Given the description of an element on the screen output the (x, y) to click on. 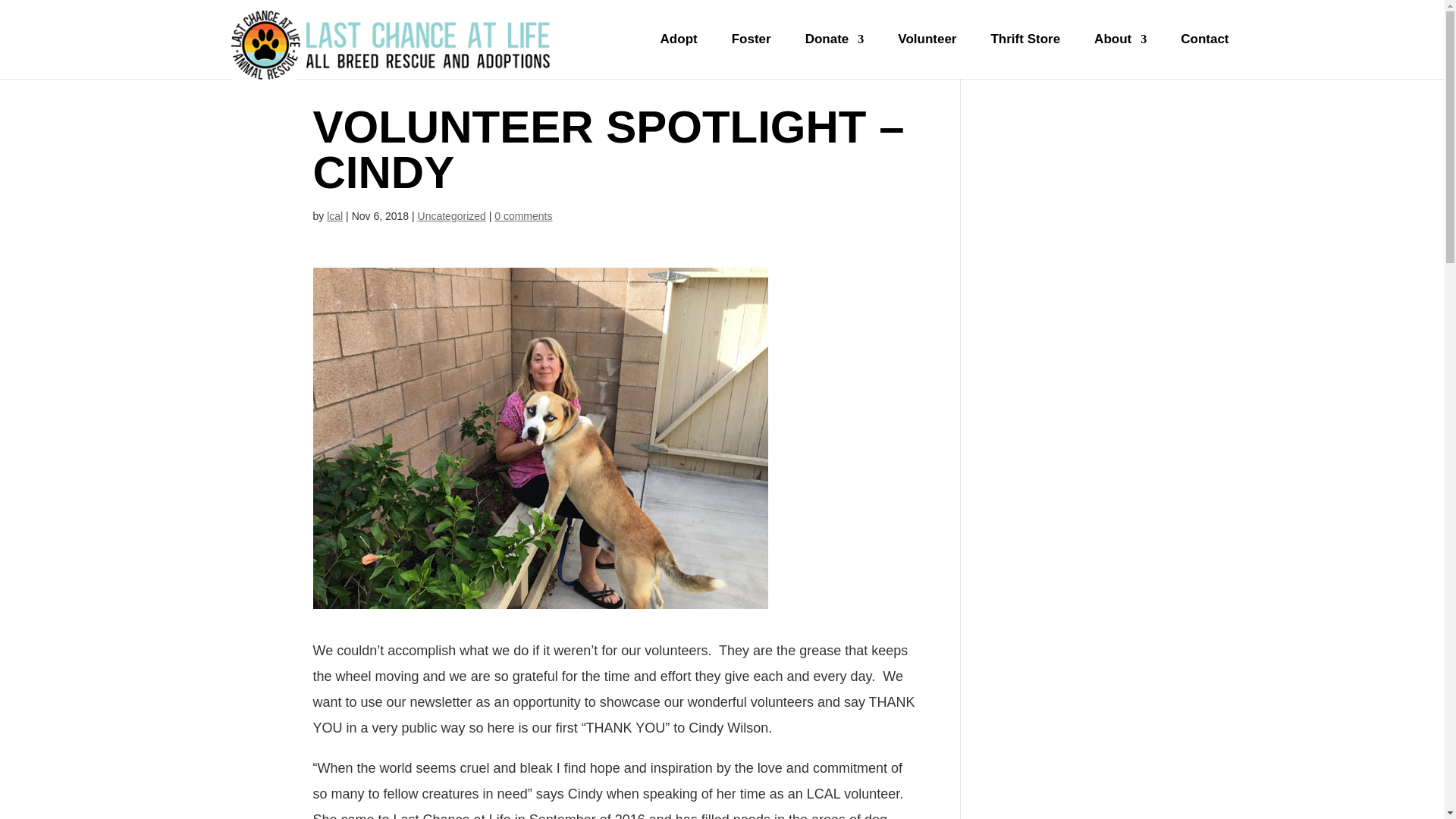
Contact (1204, 56)
Donate (834, 56)
About (1120, 56)
0 comments (523, 215)
lcal (334, 215)
Posts by lcal (334, 215)
Uncategorized (451, 215)
Thrift Store (1024, 56)
Volunteer (927, 56)
